Given the description of an element on the screen output the (x, y) to click on. 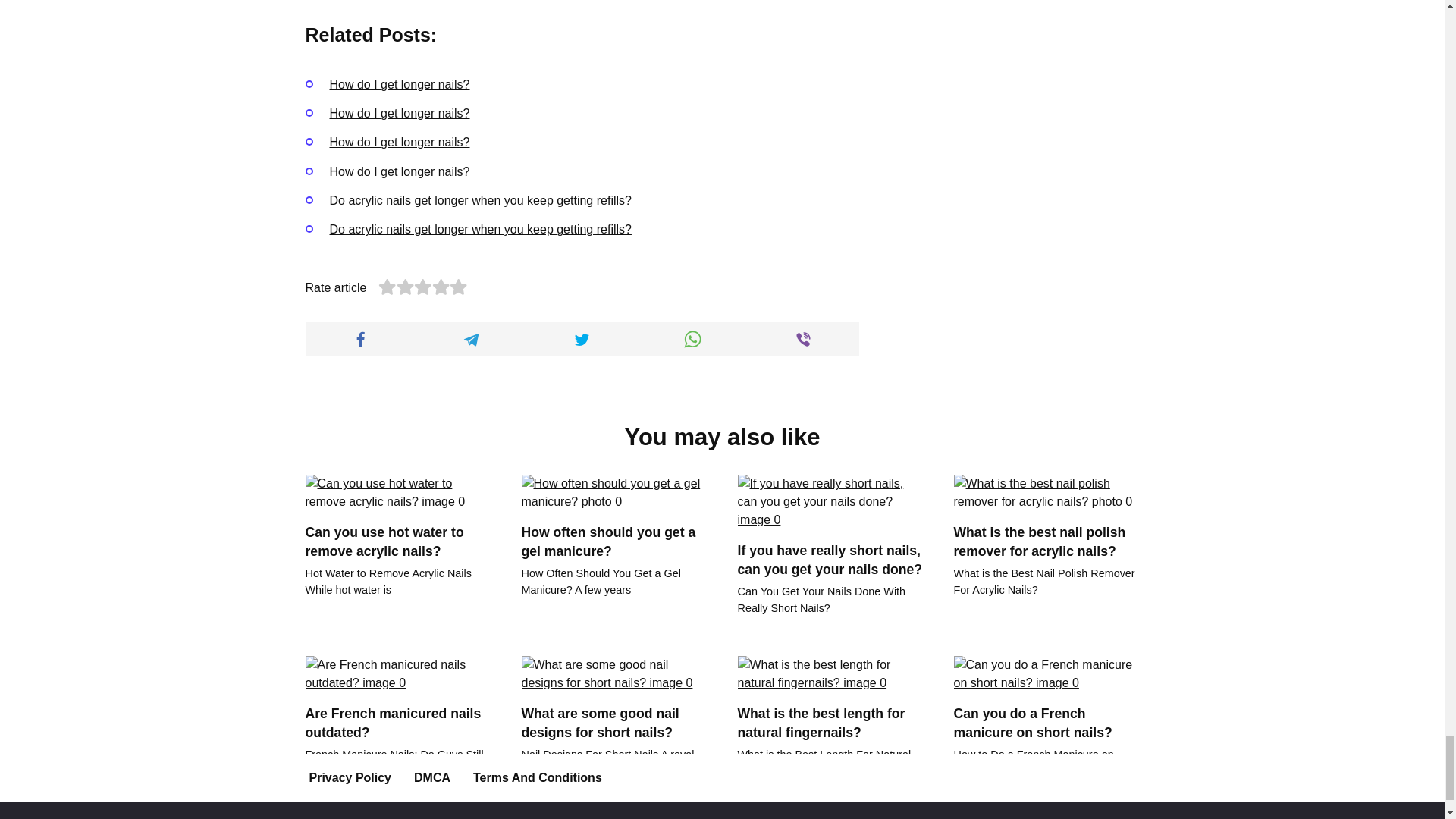
Do acrylic nails get longer when you keep getting refills? (479, 200)
How do I get longer nails? (398, 83)
How do I get longer nails? (398, 141)
How do I get longer nails? (398, 113)
Do acrylic nails get longer when you keep getting refills? (479, 228)
How do I get longer nails? (398, 171)
